Given the description of an element on the screen output the (x, y) to click on. 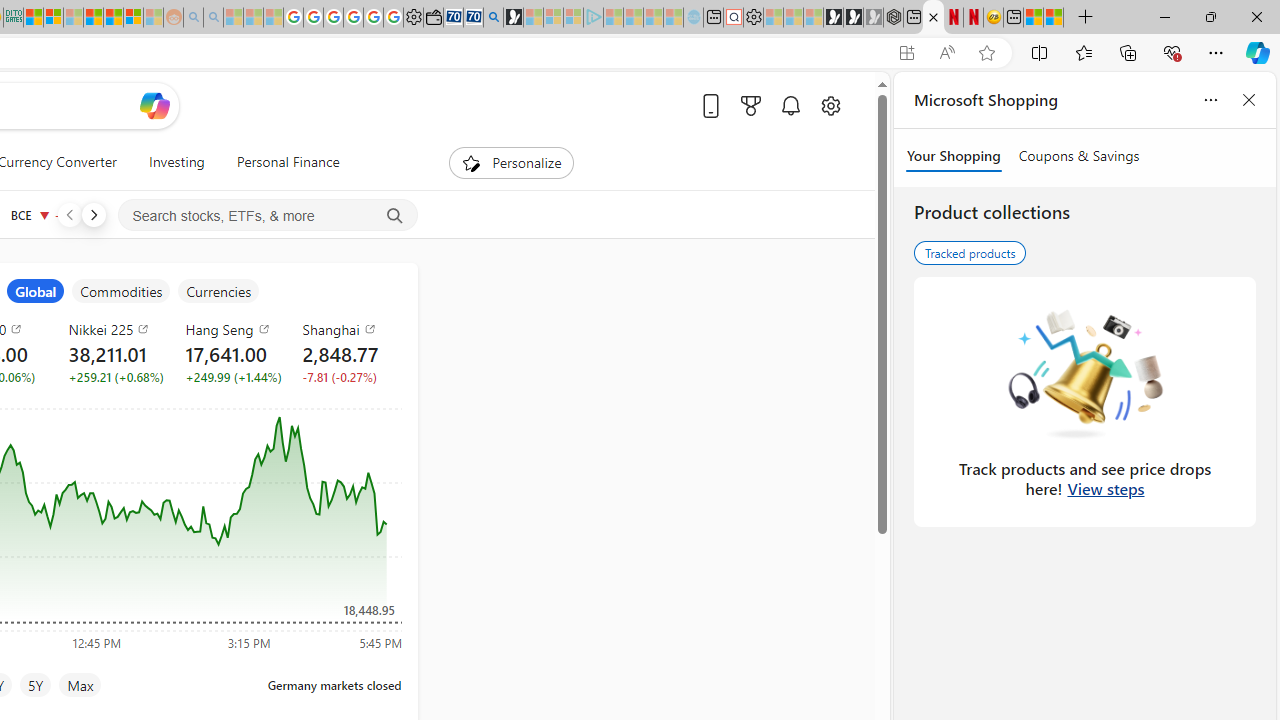
Shanghai (348, 328)
MSNBC - MSN (33, 17)
Play Free Online Games | Games from Microsoft Start (833, 17)
Cheap Car Rentals - Save70.com (472, 17)
Open settings (830, 105)
Bing Real Estate - Home sales and rental listings (493, 17)
Microsoft Start Gaming (513, 17)
